Given the description of an element on the screen output the (x, y) to click on. 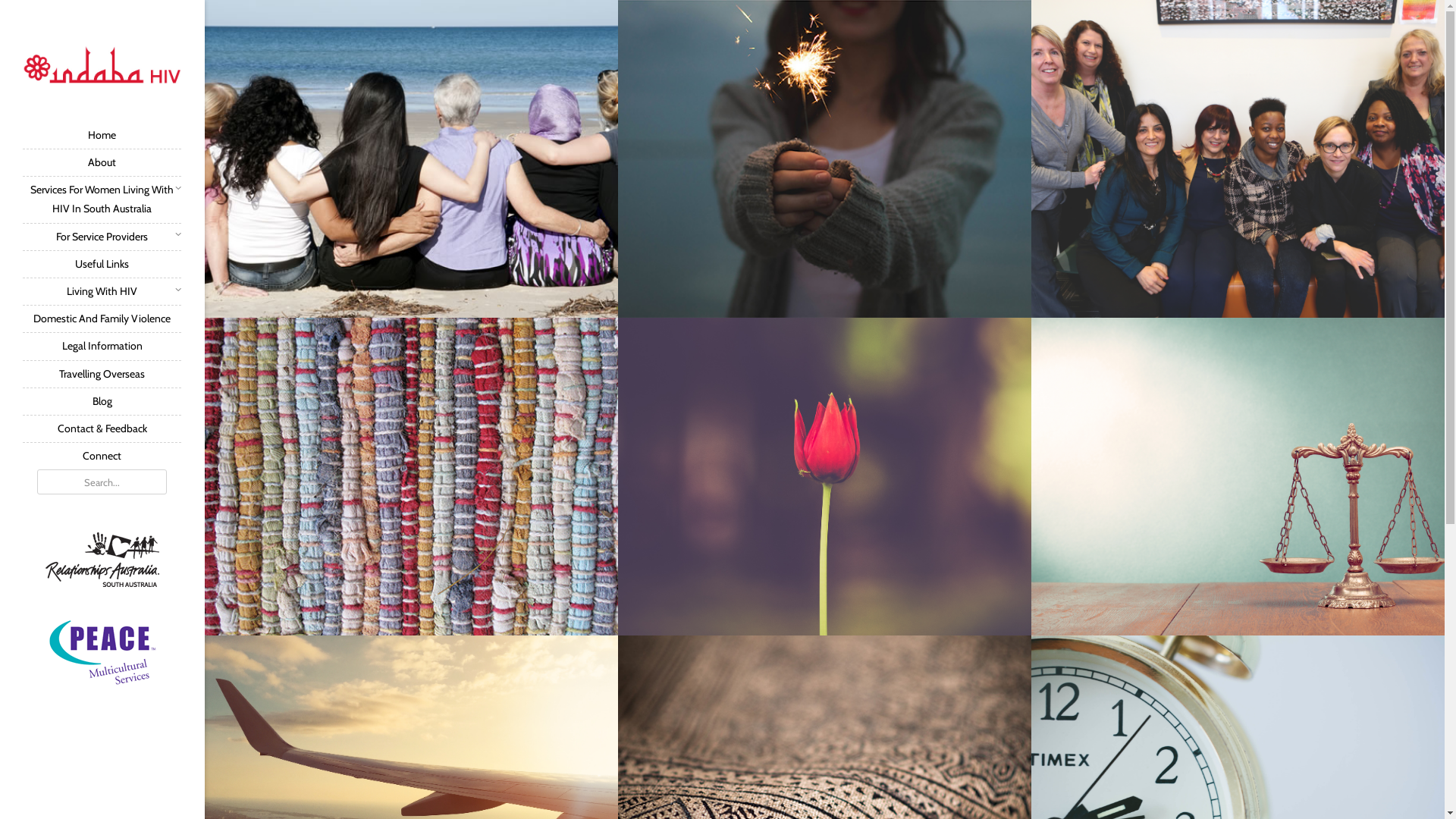
Services For Women Living With HIV In South Australia Element type: text (101, 198)
Travelling Overseas Element type: text (101, 373)
Contact & Feedback Element type: text (101, 428)
Living With HIV Element type: text (101, 290)
Home Element type: text (101, 135)
For Service Providers Element type: text (101, 236)
Domestic And Family Violence Element type: text (101, 318)
Useful Links Element type: text (101, 263)
Connect Element type: text (101, 455)
About Element type: text (101, 161)
Blog Element type: text (101, 400)
Legal Information Element type: text (101, 345)
